Given the description of an element on the screen output the (x, y) to click on. 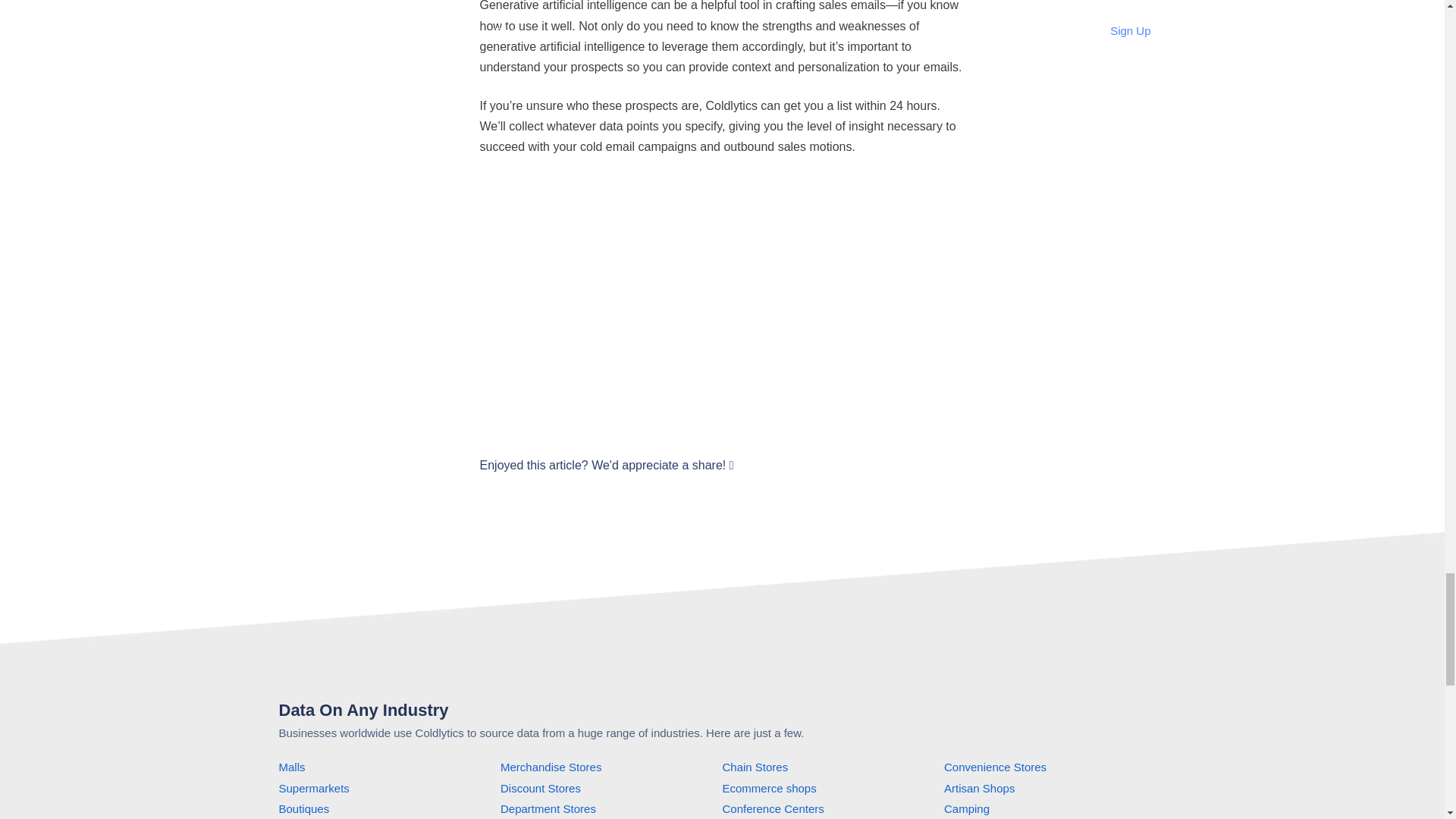
Conference Centers (773, 808)
Discount Stores (540, 788)
Merchandise Stores (550, 766)
Chain Stores (754, 766)
Camping (966, 808)
Artisan Shops (978, 788)
Convenience Stores (994, 766)
Boutiques (304, 808)
Department Stores (547, 808)
Supermarkets (314, 788)
